Given the description of an element on the screen output the (x, y) to click on. 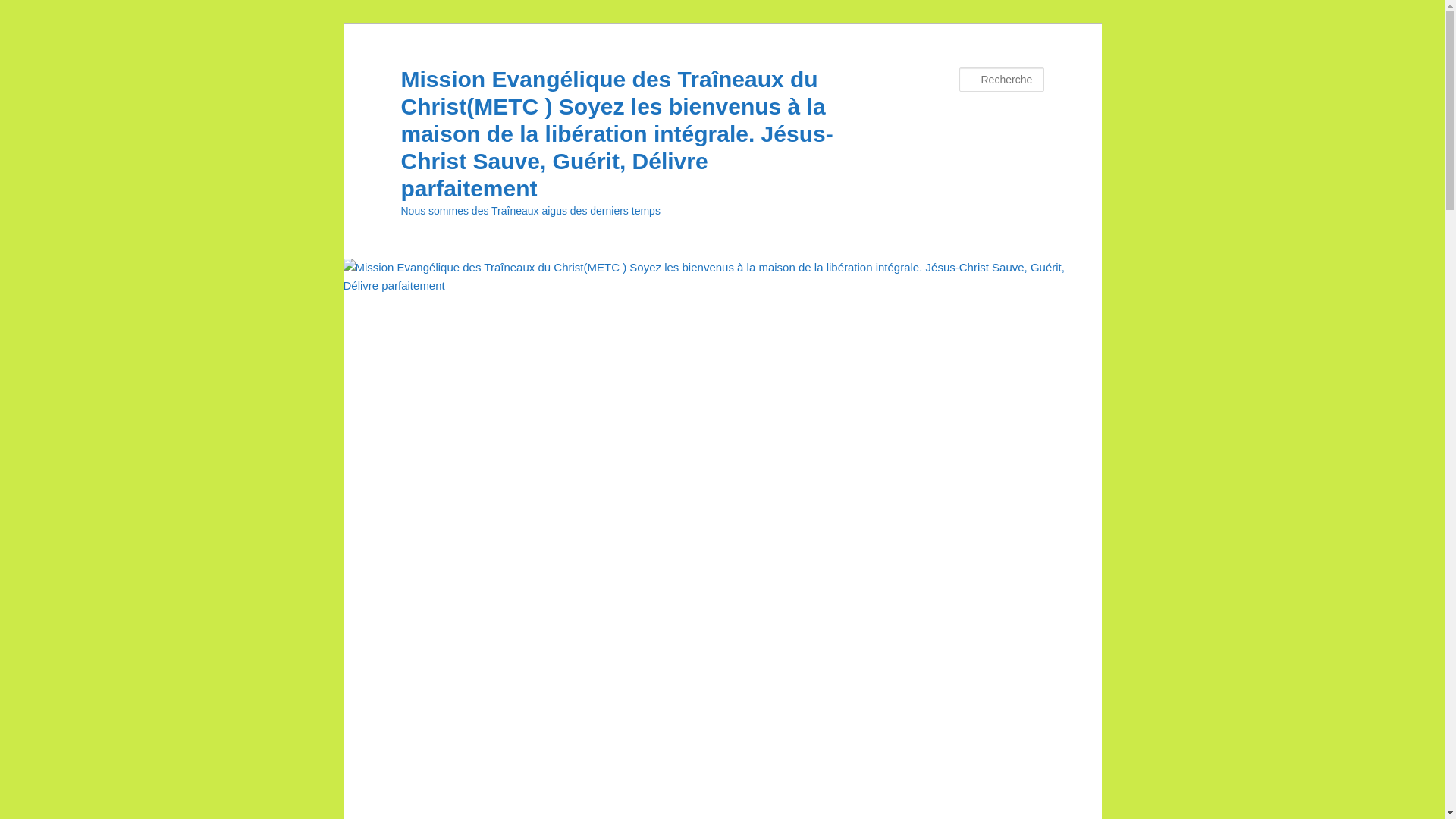
Aller au contenu principal Element type: text (22, 22)
Recherche Element type: text (33, 8)
